Given the description of an element on the screen output the (x, y) to click on. 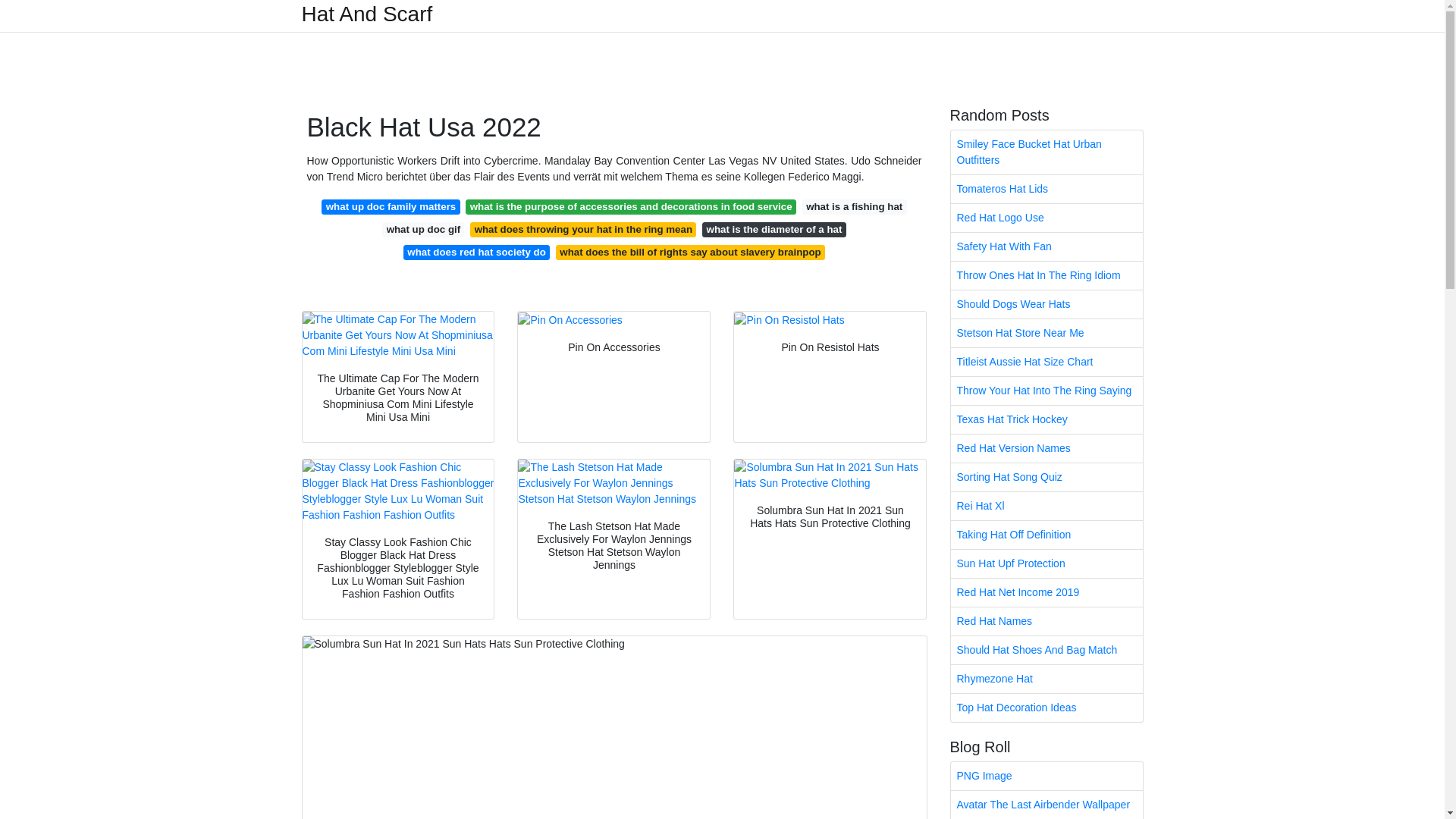
Stetson Hat Store Near Me (1046, 333)
what does red hat society do (476, 252)
Texas Hat Trick Hockey (1046, 419)
Throw Ones Hat In The Ring Idiom (1046, 275)
Hat And Scarf (366, 13)
Titleist Aussie Hat Size Chart (1046, 361)
what is a fishing hat (854, 206)
what does throwing your hat in the ring mean (582, 229)
what does the bill of rights say about slavery brainpop (690, 252)
